Given the description of an element on the screen output the (x, y) to click on. 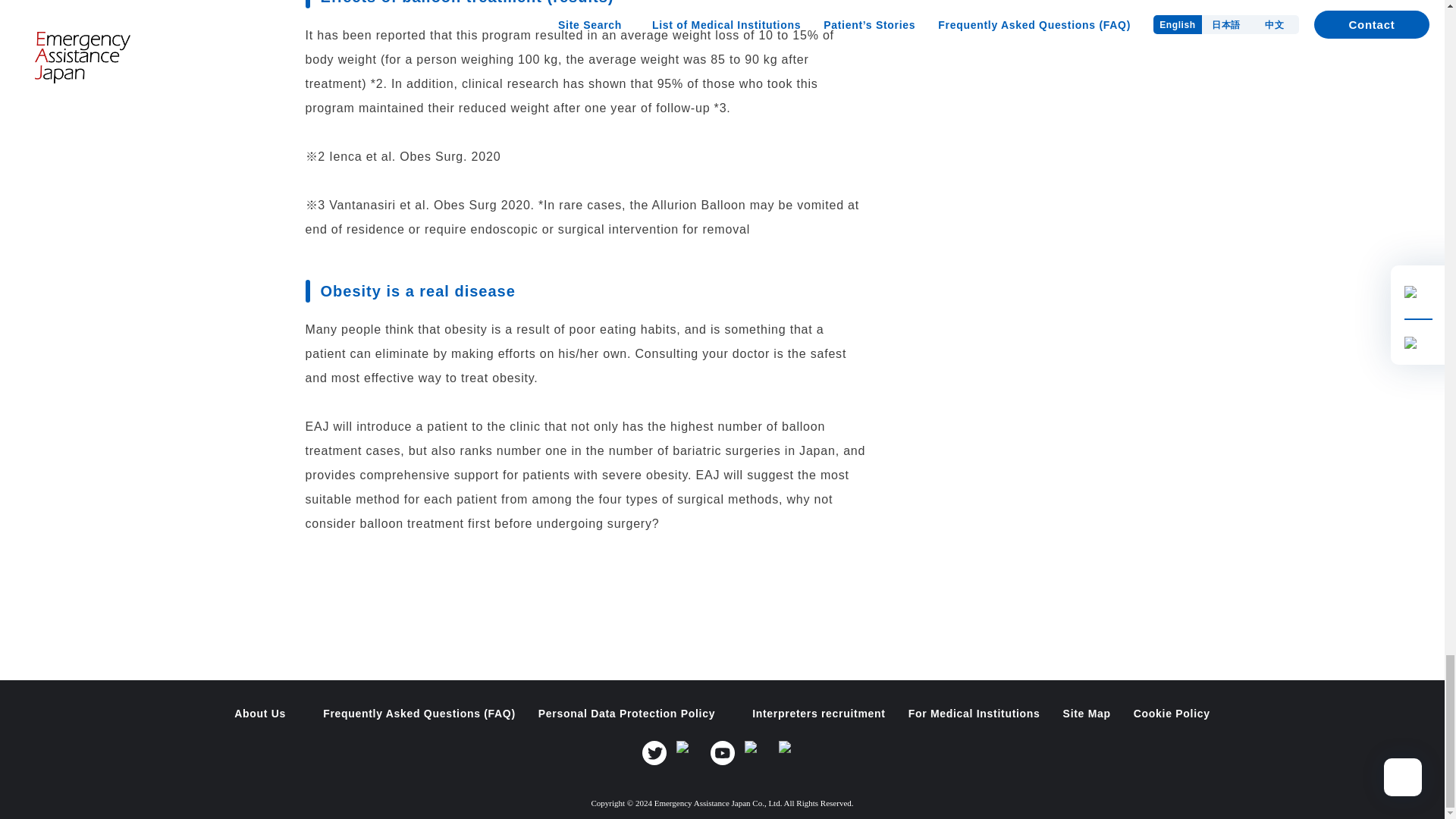
For Medical Institutions (974, 713)
Interpreters recruitment (818, 713)
Personal Data Protection Policy (633, 713)
Cookie Policy (1171, 713)
About Us (266, 713)
Site Map (1086, 713)
